Given the description of an element on the screen output the (x, y) to click on. 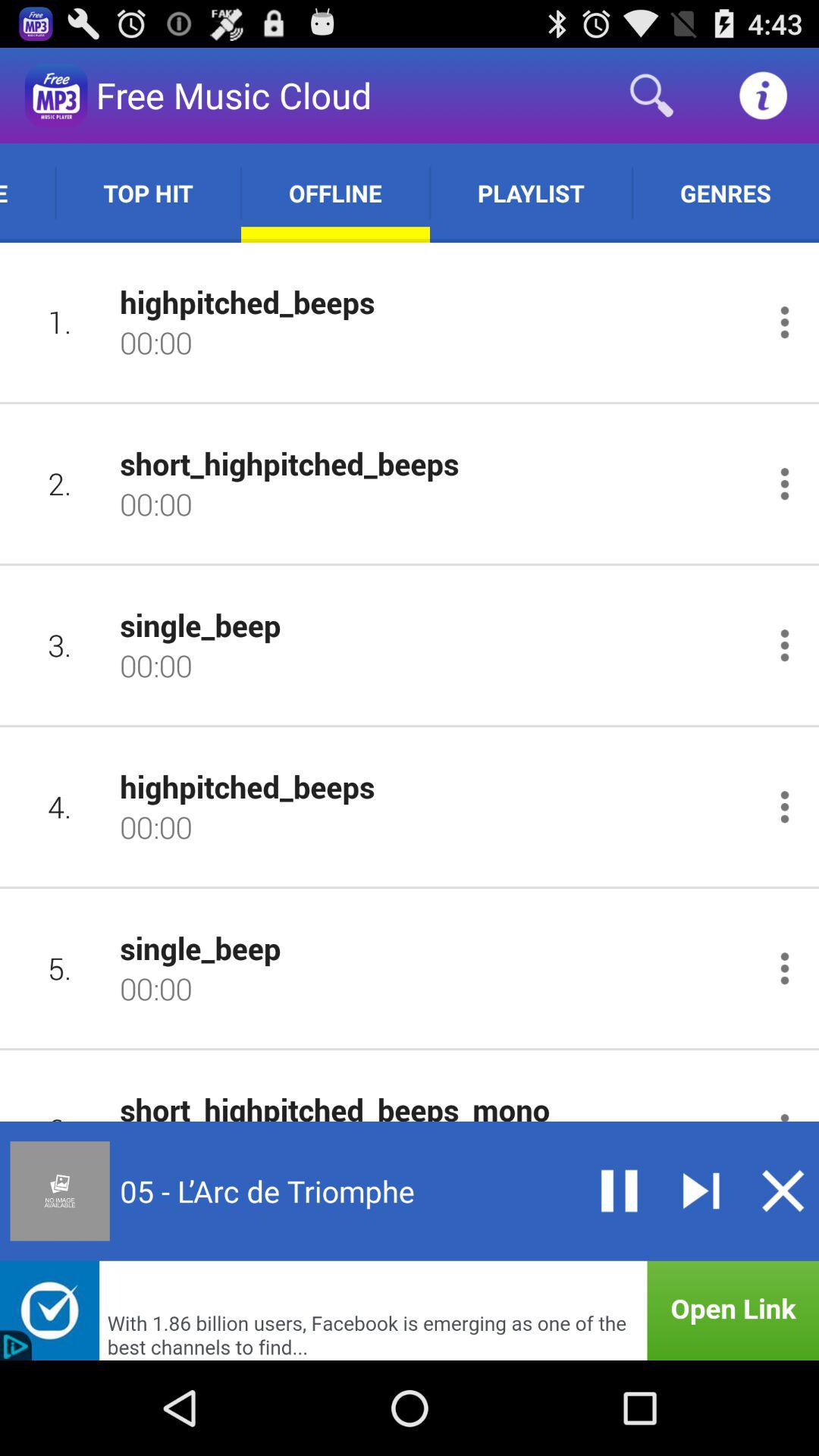
tap 2. icon (59, 483)
